Given the description of an element on the screen output the (x, y) to click on. 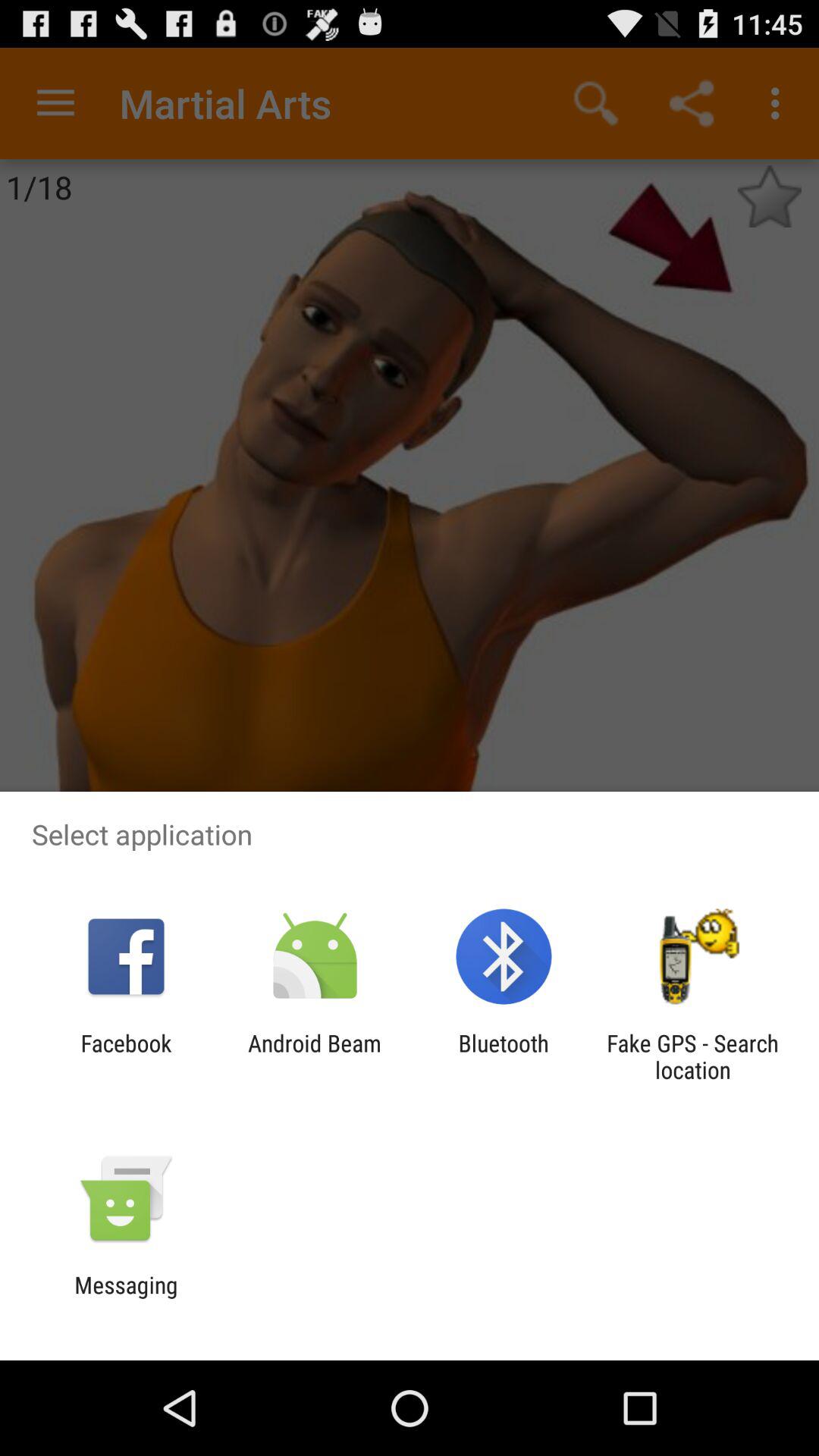
launch the item to the left of android beam app (125, 1056)
